Given the description of an element on the screen output the (x, y) to click on. 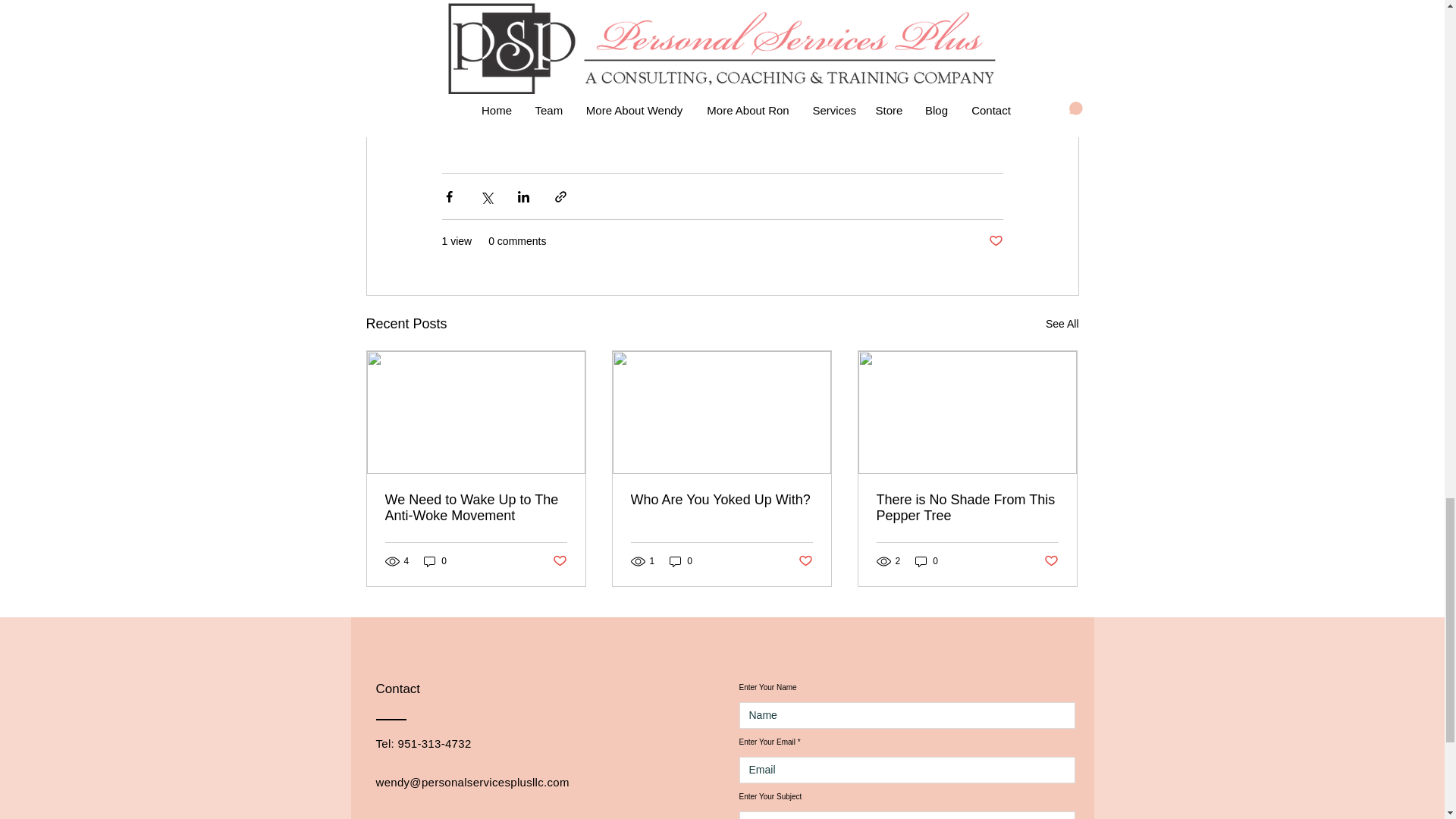
There is No Shade From This Pepper Tree (967, 508)
www.WendyGladney.com (547, 83)
We Need to Wake Up to The Anti-Woke Movement (476, 508)
Post not marked as liked (804, 561)
0 (435, 561)
www.forgivingforliving.org (733, 83)
Post not marked as liked (1050, 561)
Post not marked as liked (558, 561)
0 (926, 561)
Who Are You Yoked Up With? (721, 499)
